Given the description of an element on the screen output the (x, y) to click on. 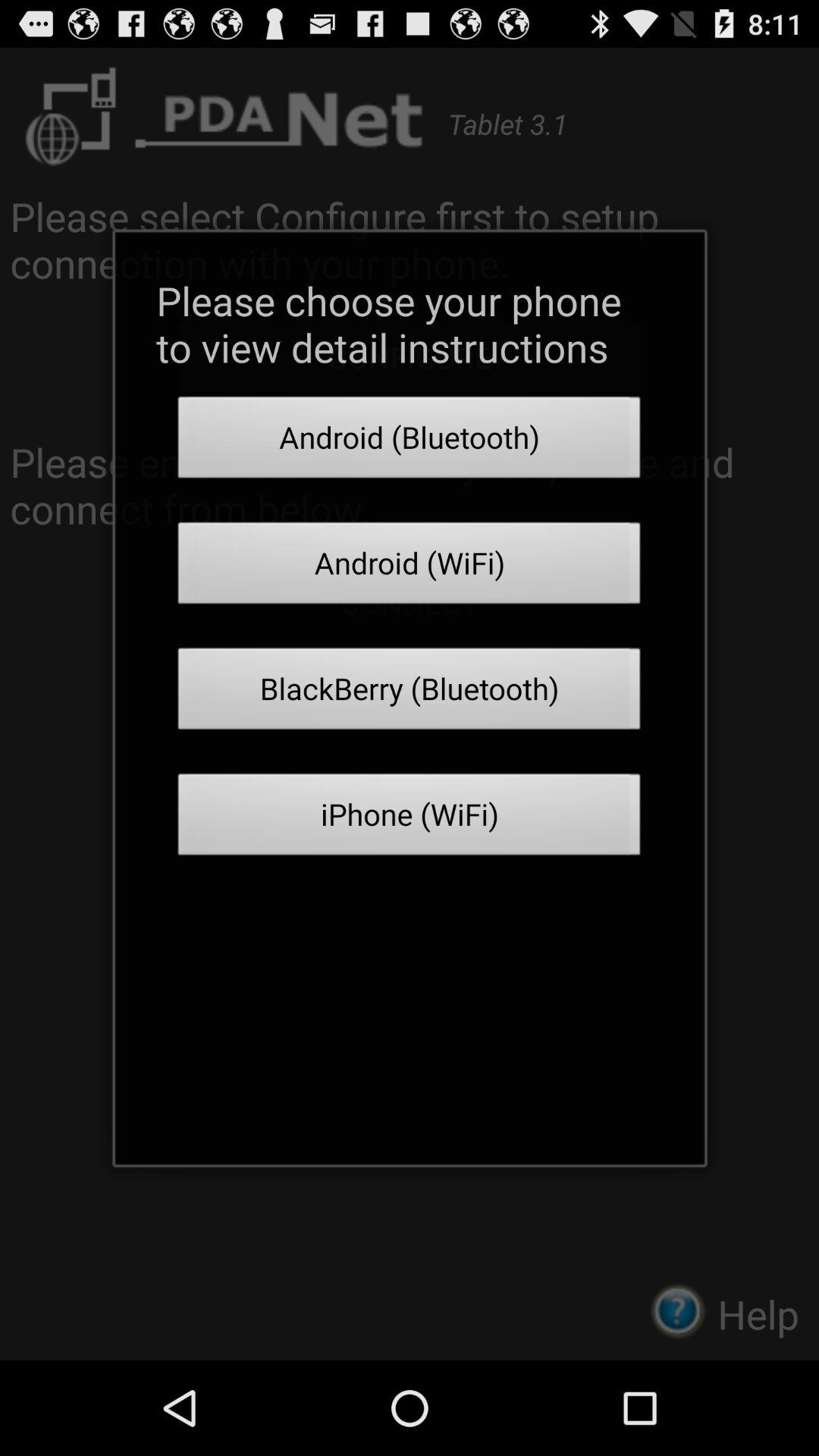
press the item below the android (bluetooth) icon (409, 567)
